Given the description of an element on the screen output the (x, y) to click on. 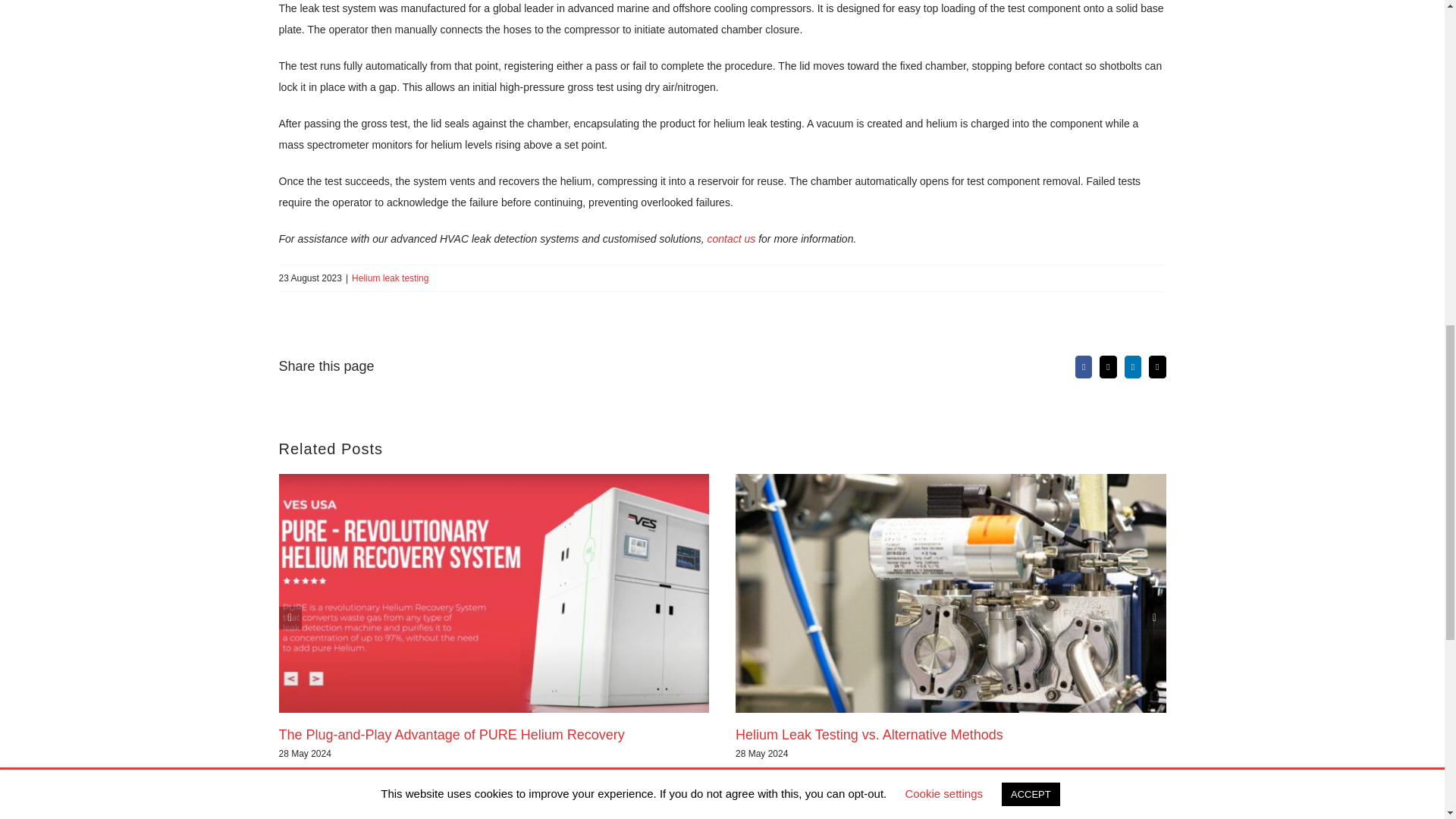
Subscribe (843, 811)
The Plug-and-Play Advantage of PURE Helium Recovery (451, 734)
Helium Leak Testing vs. Alternative Methods (869, 734)
